Given the description of an element on the screen output the (x, y) to click on. 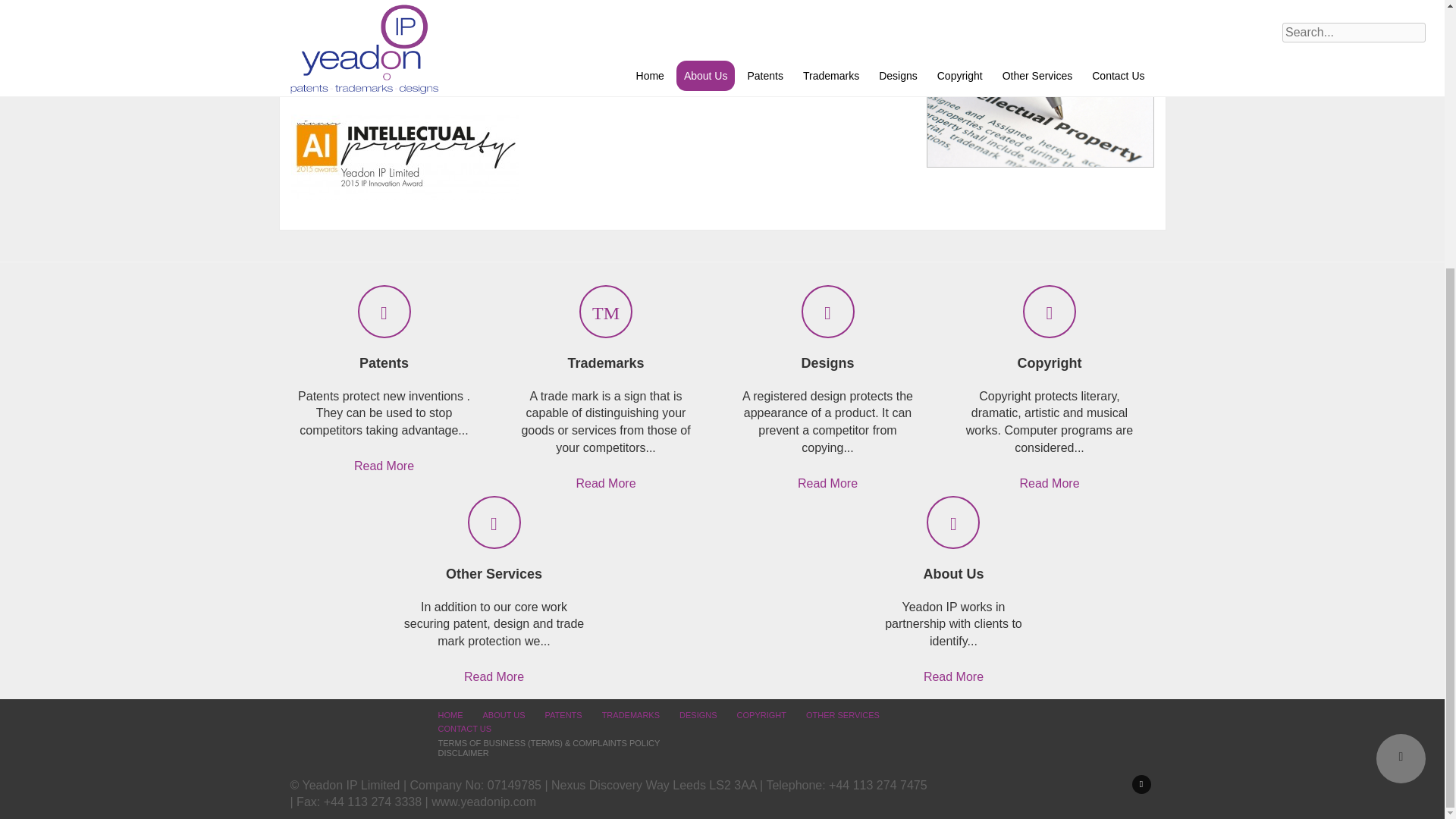
TRADEMARKS (630, 714)
Read More (383, 487)
Read More (1048, 488)
DESIGNS (698, 714)
COPYRIGHT (761, 714)
Read More (827, 492)
Read More (953, 676)
HOME (450, 714)
PATENTS (563, 714)
Read More (604, 499)
OTHER SERVICES (842, 714)
Read More (494, 679)
ABOUT US (502, 714)
